Given the description of an element on the screen output the (x, y) to click on. 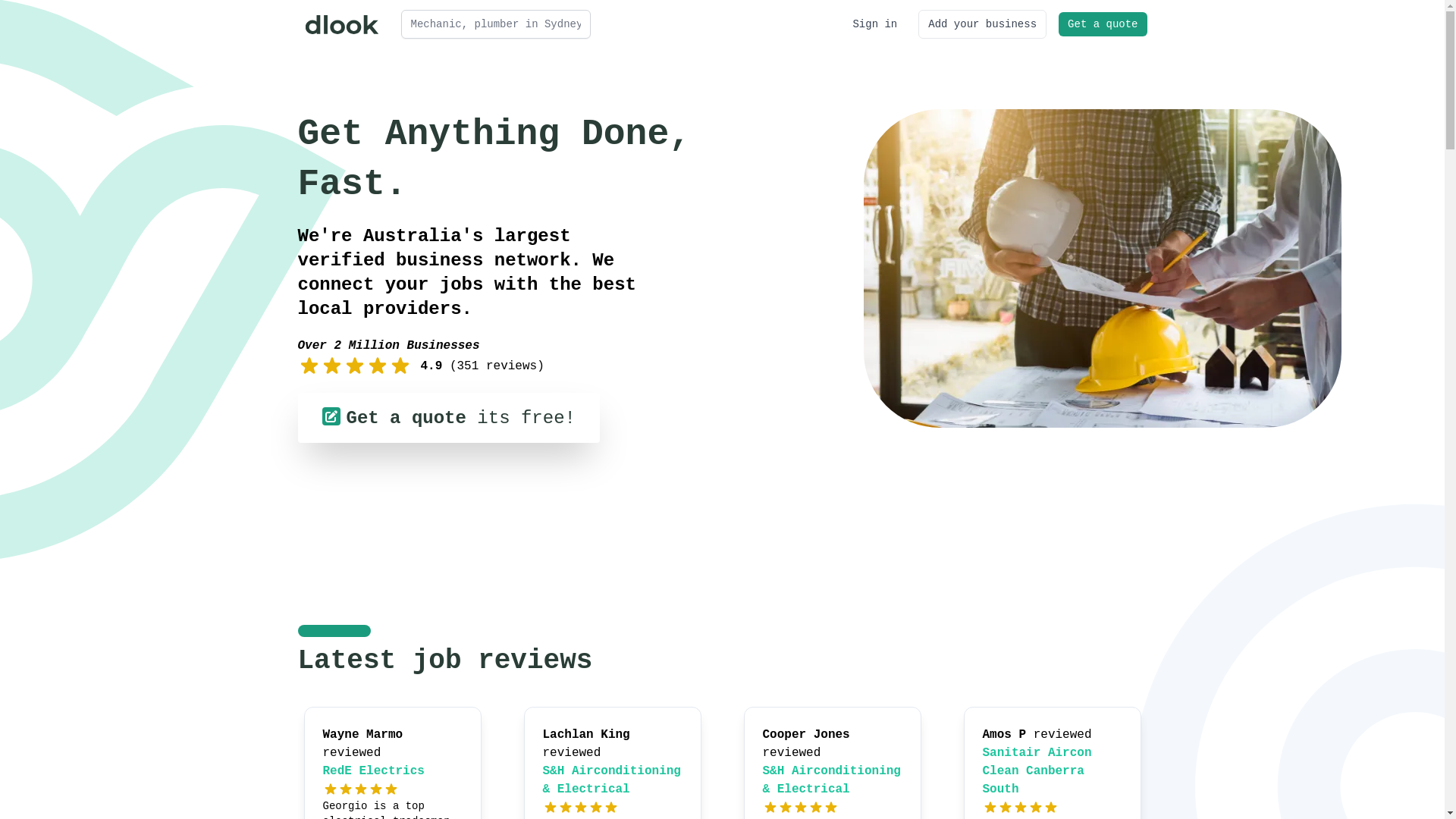
Sign in Element type: text (874, 23)
S&H Airconditioning & Electrical Element type: text (831, 780)
Get a quote Element type: text (1102, 24)
Get a quote its free! Element type: text (448, 417)
S&H Airconditioning & Electrical Element type: text (611, 780)
Sanitair Aircon Clean Canberra South Element type: text (1037, 771)
Add your business Element type: text (982, 23)
RedE Electrics Element type: text (373, 771)
